Given the description of an element on the screen output the (x, y) to click on. 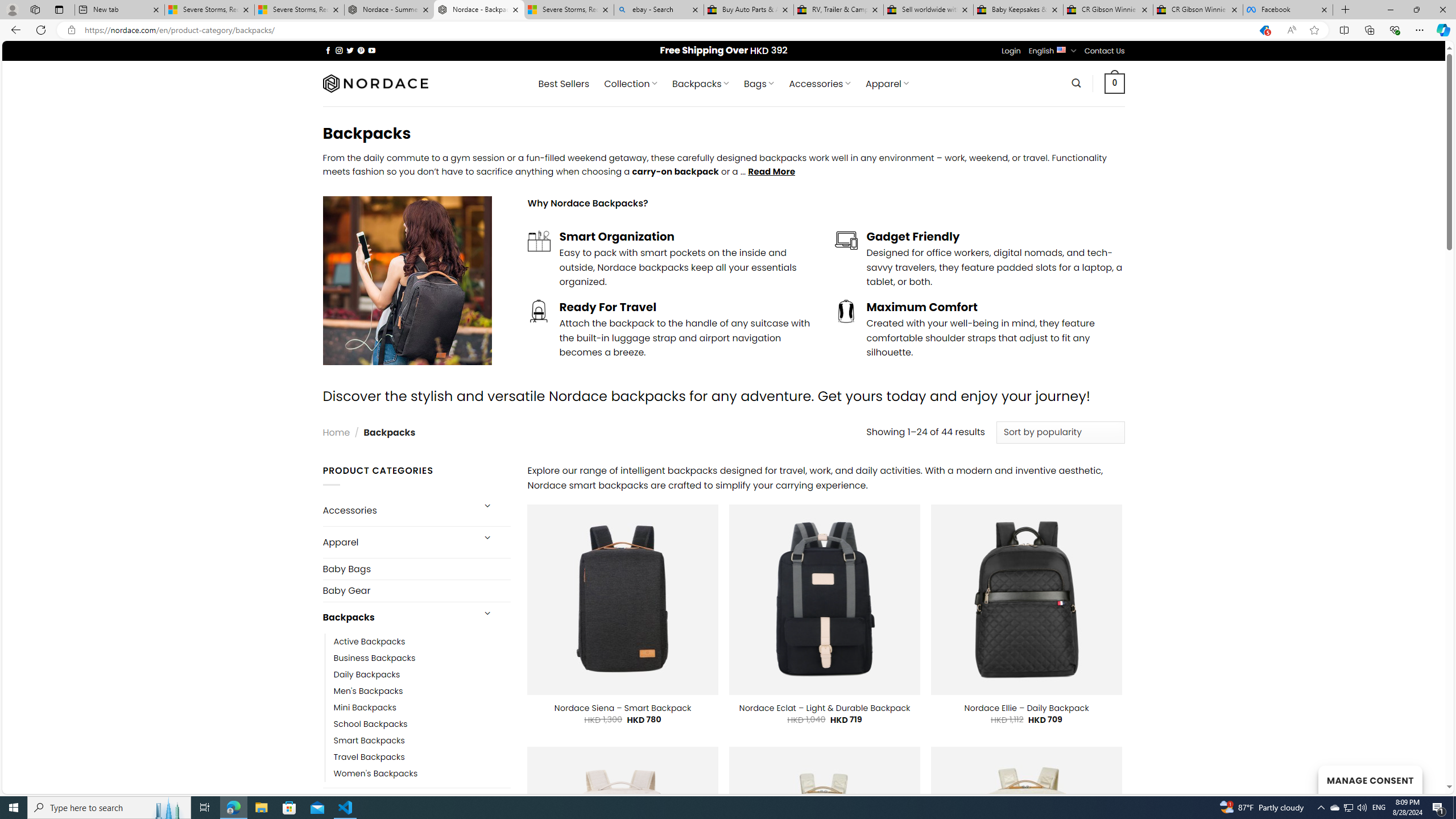
English (1061, 49)
  Best Sellers (563, 83)
Business Backpacks (374, 657)
Women's Backpacks (375, 773)
Baby Bags (416, 568)
Baby Bags (416, 568)
